Given the description of an element on the screen output the (x, y) to click on. 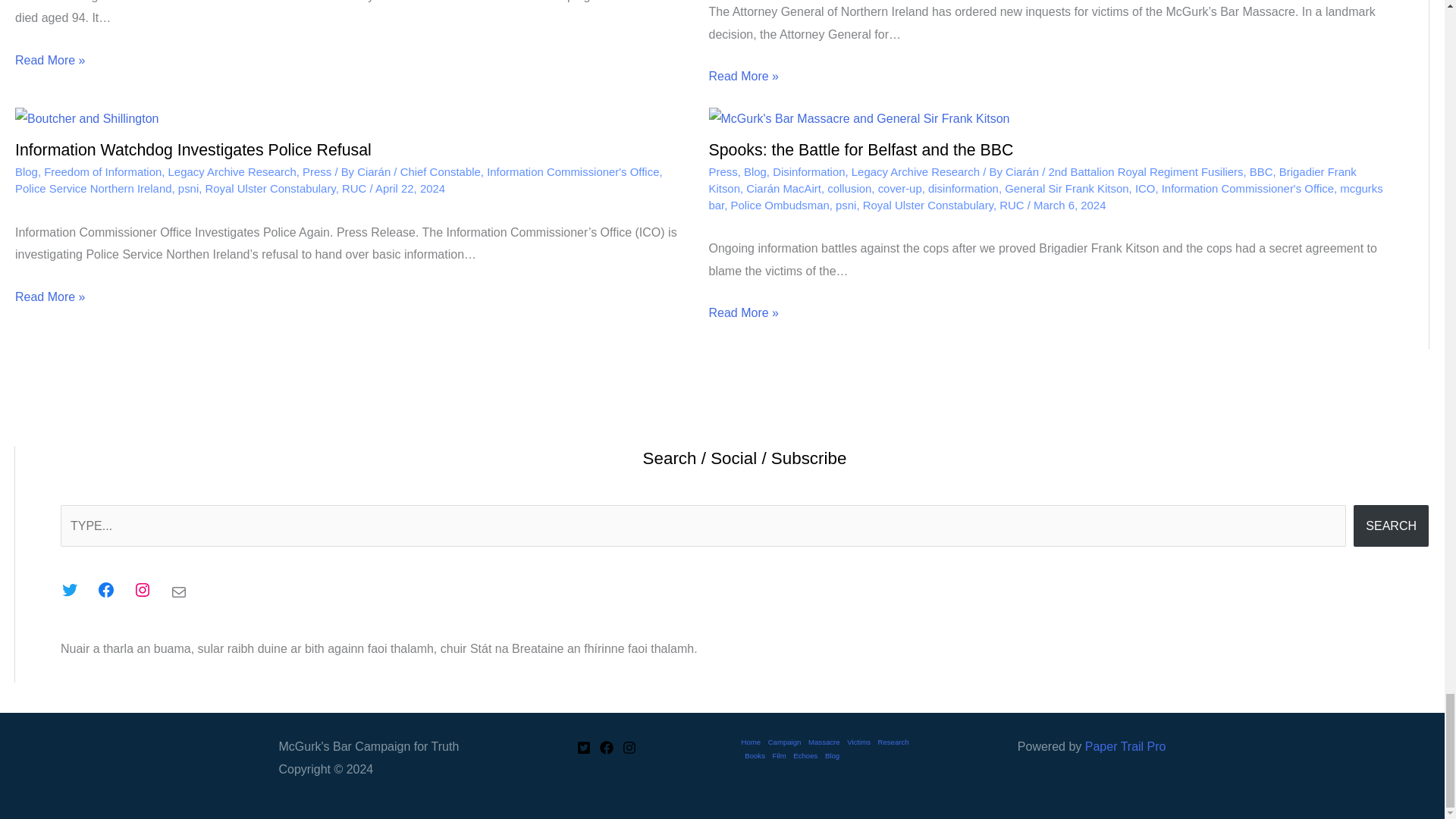
Information Watchdog Investigates Police Refusal 6 (86, 118)
Spooks: the Battle for Belfast and the BBC 8 (858, 118)
